Given the description of an element on the screen output the (x, y) to click on. 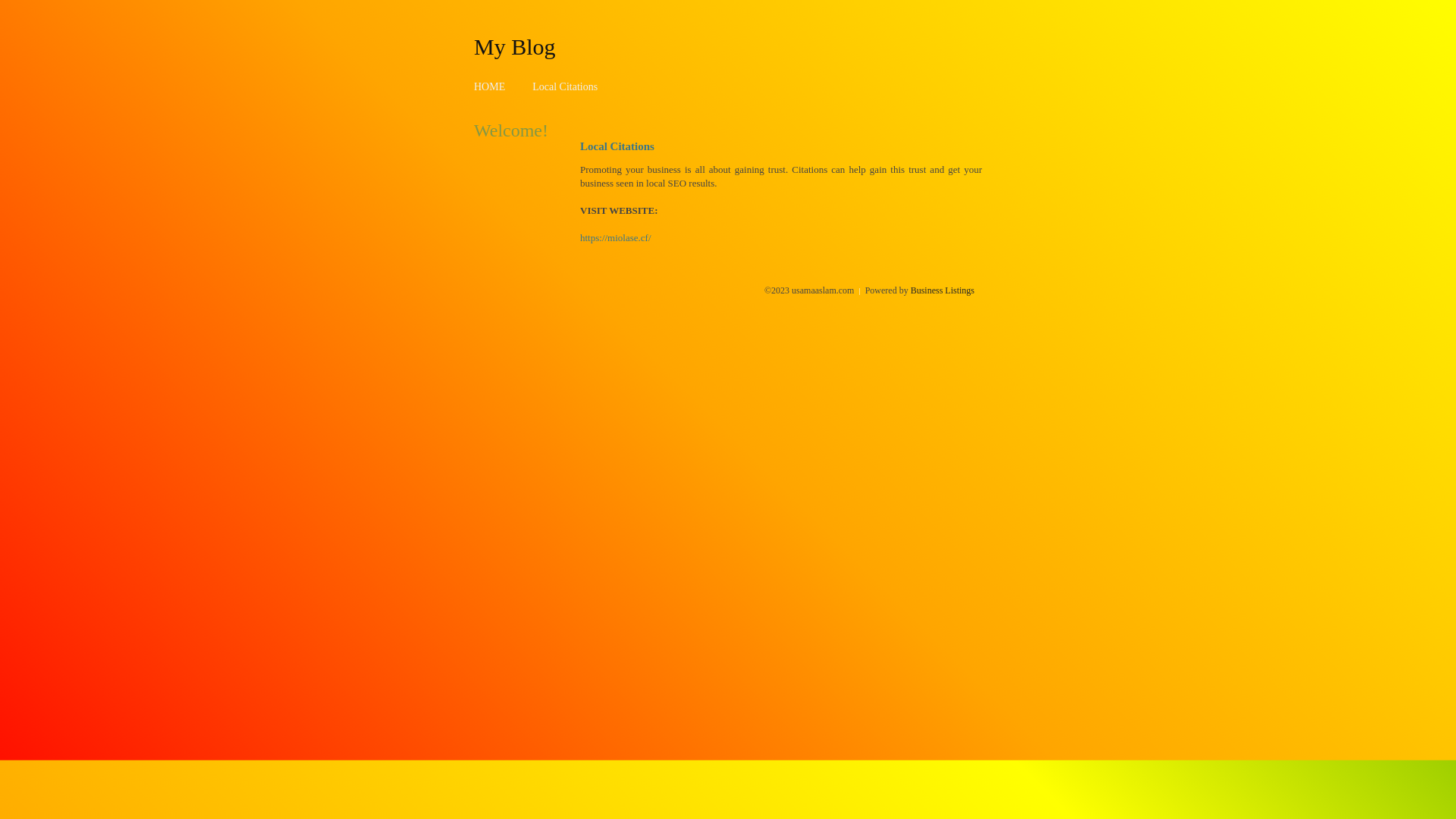
https://miolase.cf/ Element type: text (615, 237)
HOME Element type: text (489, 86)
Business Listings Element type: text (942, 290)
Local Citations Element type: text (564, 86)
My Blog Element type: text (514, 46)
